Given the description of an element on the screen output the (x, y) to click on. 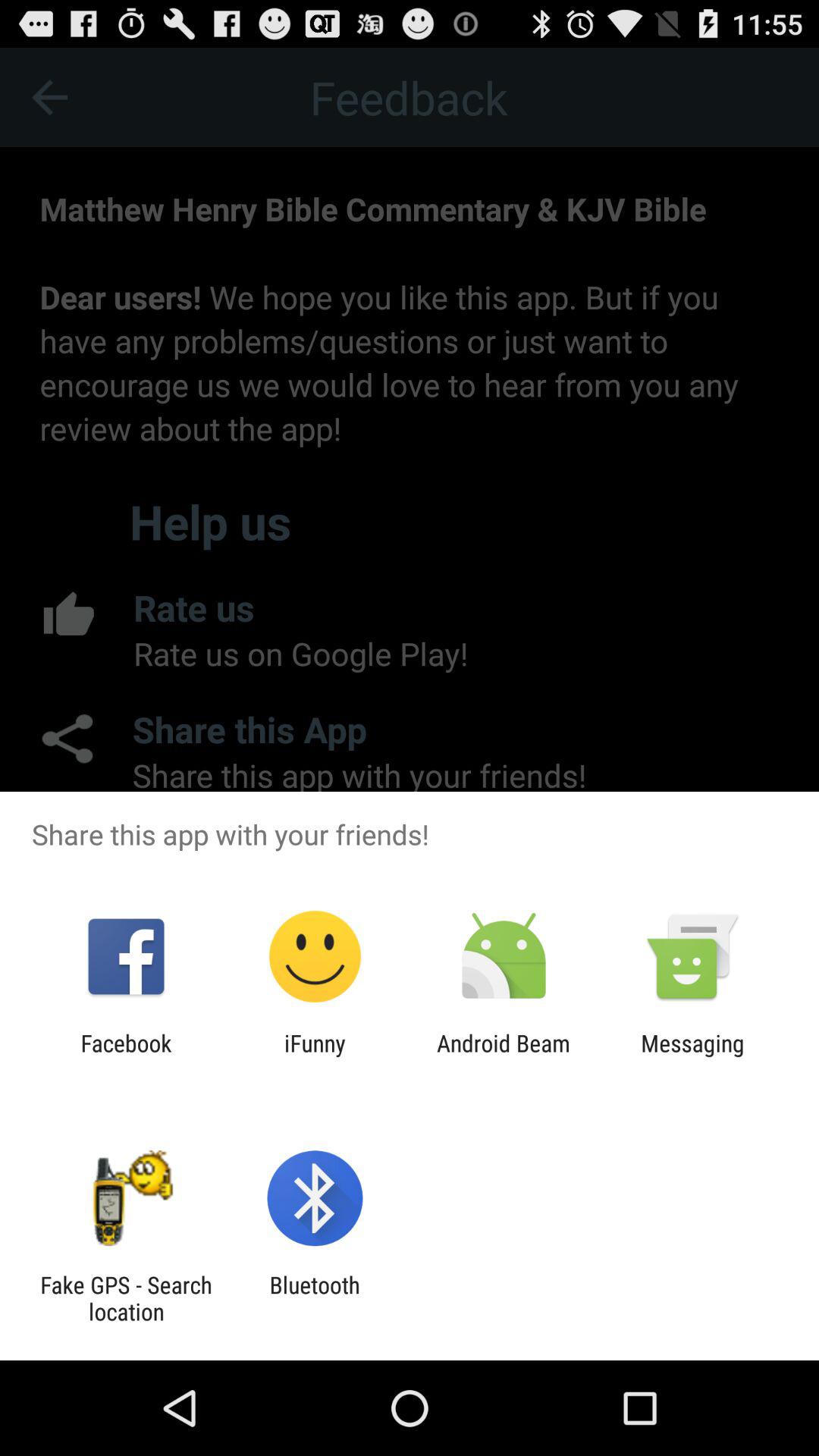
jump to bluetooth (314, 1298)
